Given the description of an element on the screen output the (x, y) to click on. 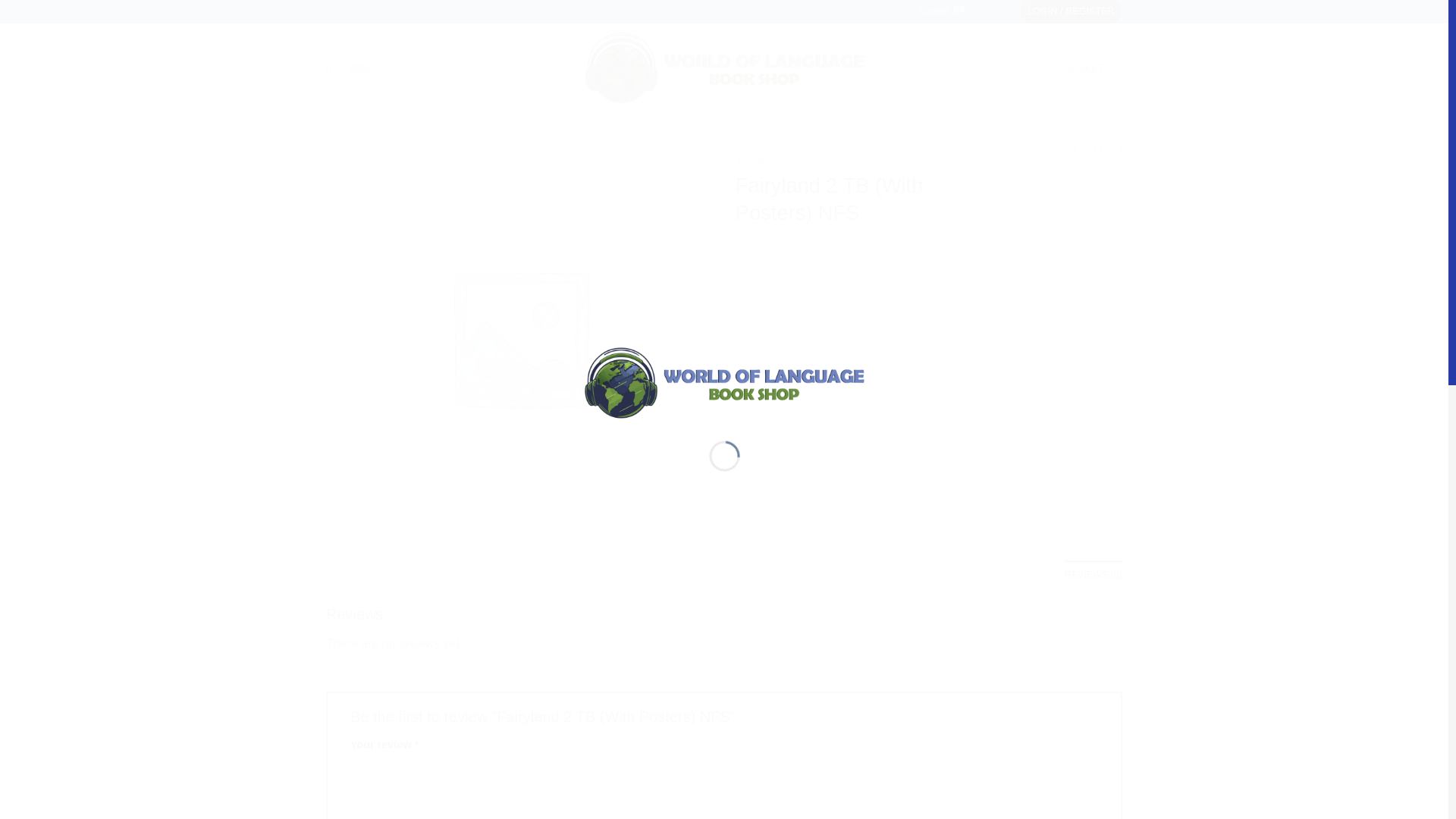
English (946, 11)
MENU (350, 67)
Basket (1093, 68)
BASKET (1093, 68)
Zoom (349, 507)
ForeignBookinMongolia (723, 381)
ForeignBookinMongolia (723, 67)
